Given the description of an element on the screen output the (x, y) to click on. 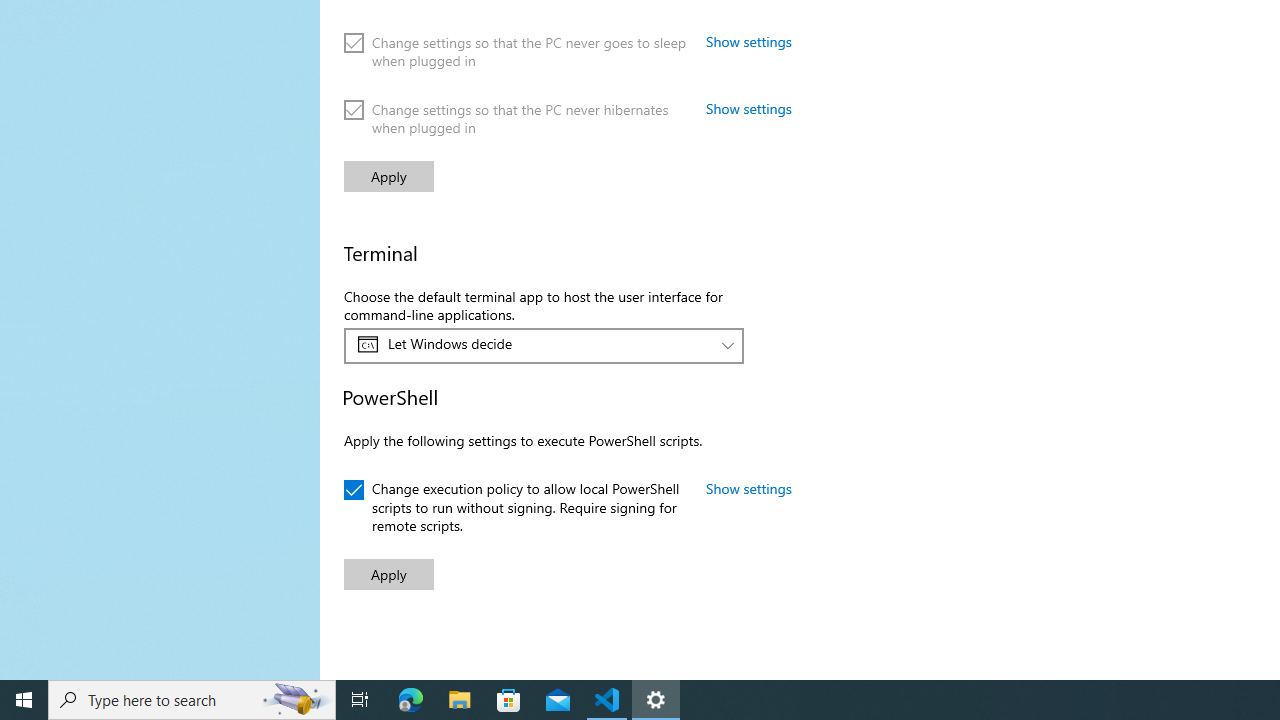
File Explorer (460, 699)
Settings - 1 running window (656, 699)
Visual Studio Code - 1 running window (607, 699)
Task View (359, 699)
Apply (388, 573)
Start (24, 699)
Search highlights icon opens search home window (295, 699)
Microsoft Store (509, 699)
